Given the description of an element on the screen output the (x, y) to click on. 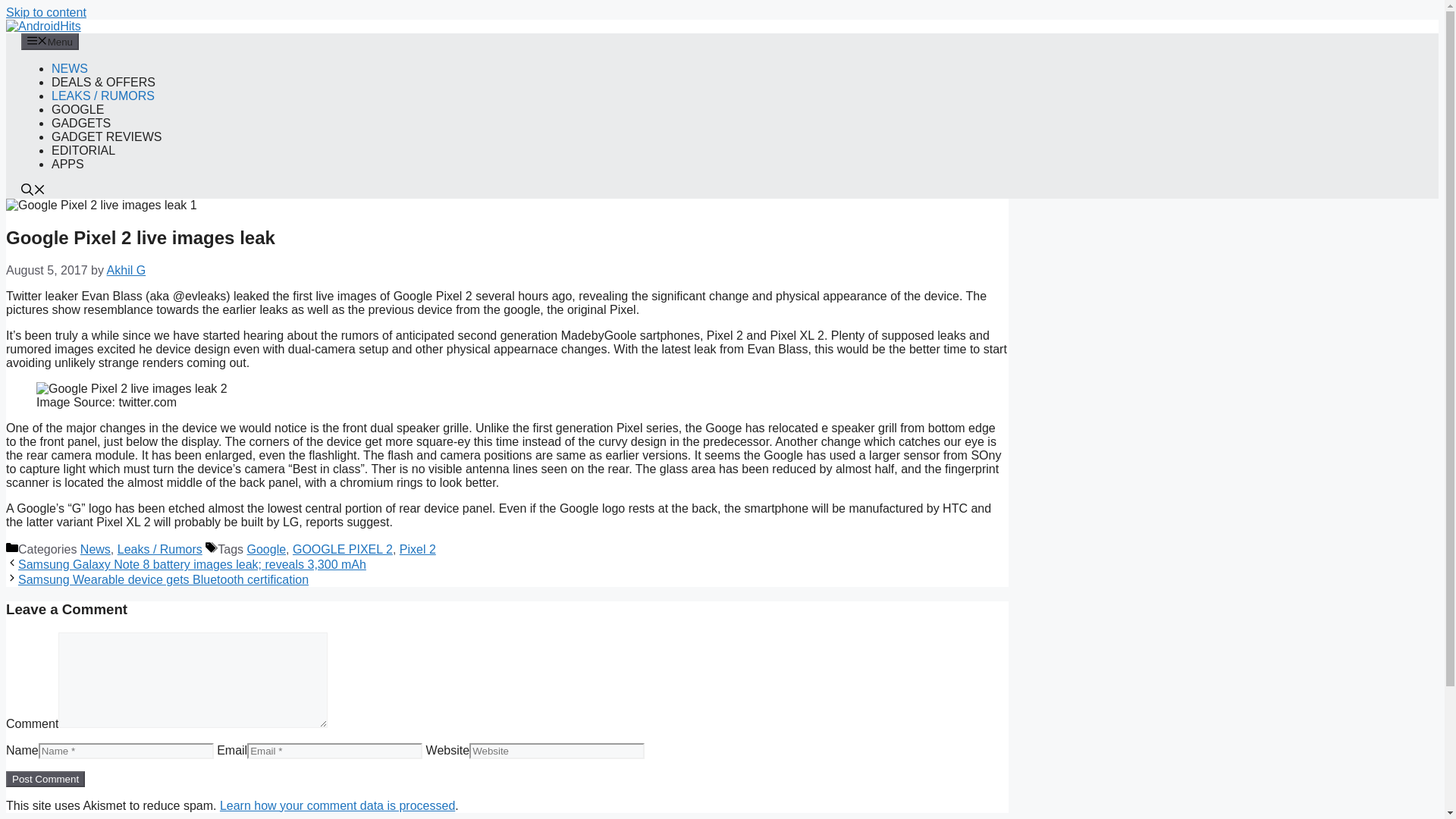
GOOGLE (76, 109)
Learn how your comment data is processed (336, 805)
Skip to content (45, 11)
GADGET REVIEWS (105, 136)
Pixel 2 (416, 549)
Google (265, 549)
Samsung Galaxy Note 8 battery images leak; reveals 3,300 mAh (191, 563)
EDITORIAL (82, 150)
GOOGLE PIXEL 2 (342, 549)
GADGETS (80, 123)
Google Pixel 2 live images leak 2 (131, 388)
Akhil G (126, 269)
Post Comment (44, 779)
News (95, 549)
NEWS (68, 68)
